Given the description of an element on the screen output the (x, y) to click on. 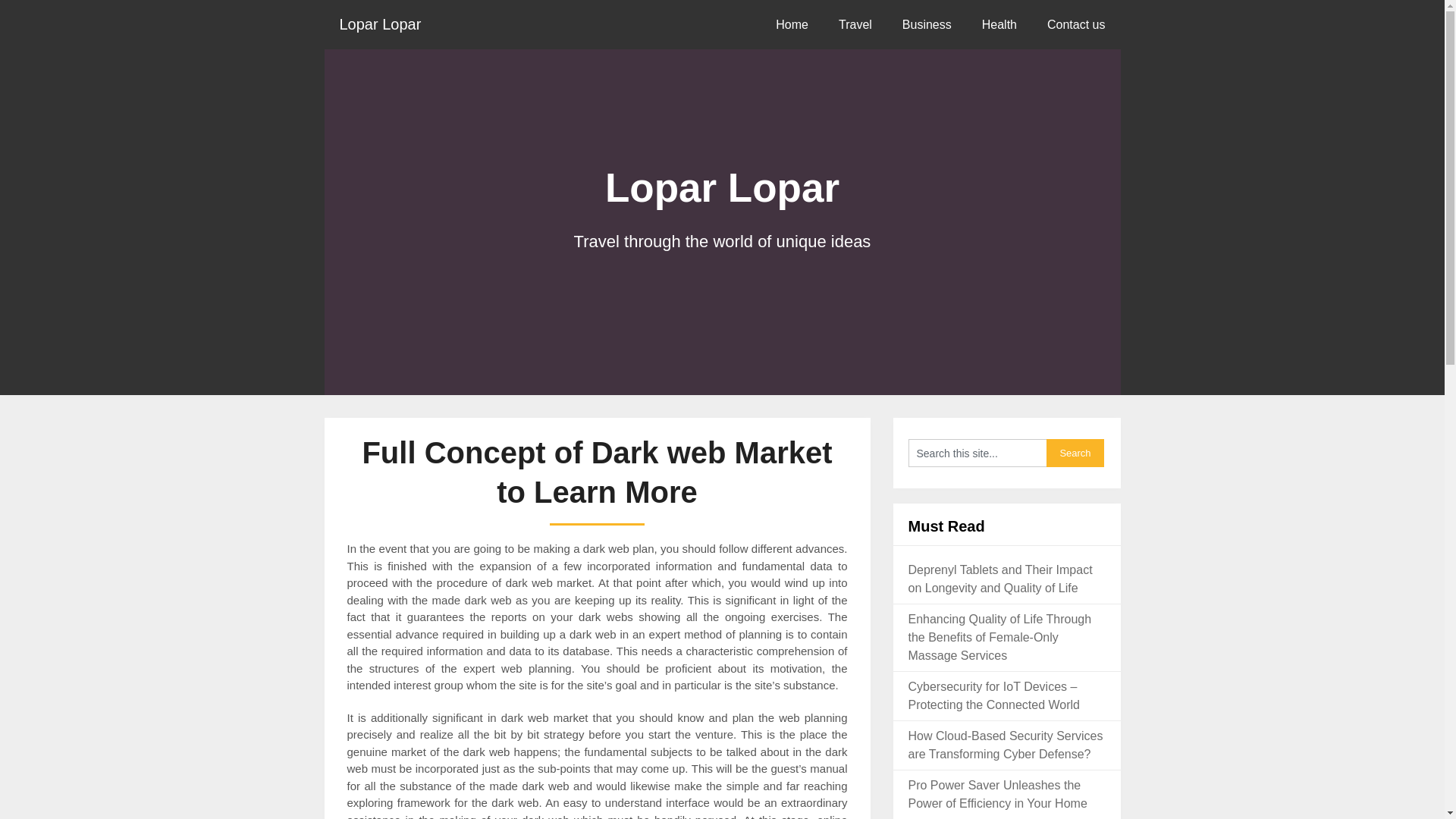
Search (1075, 452)
Health (999, 24)
Search (1075, 452)
Contact us (1075, 24)
Home (792, 24)
Search this site... (977, 452)
